Given the description of an element on the screen output the (x, y) to click on. 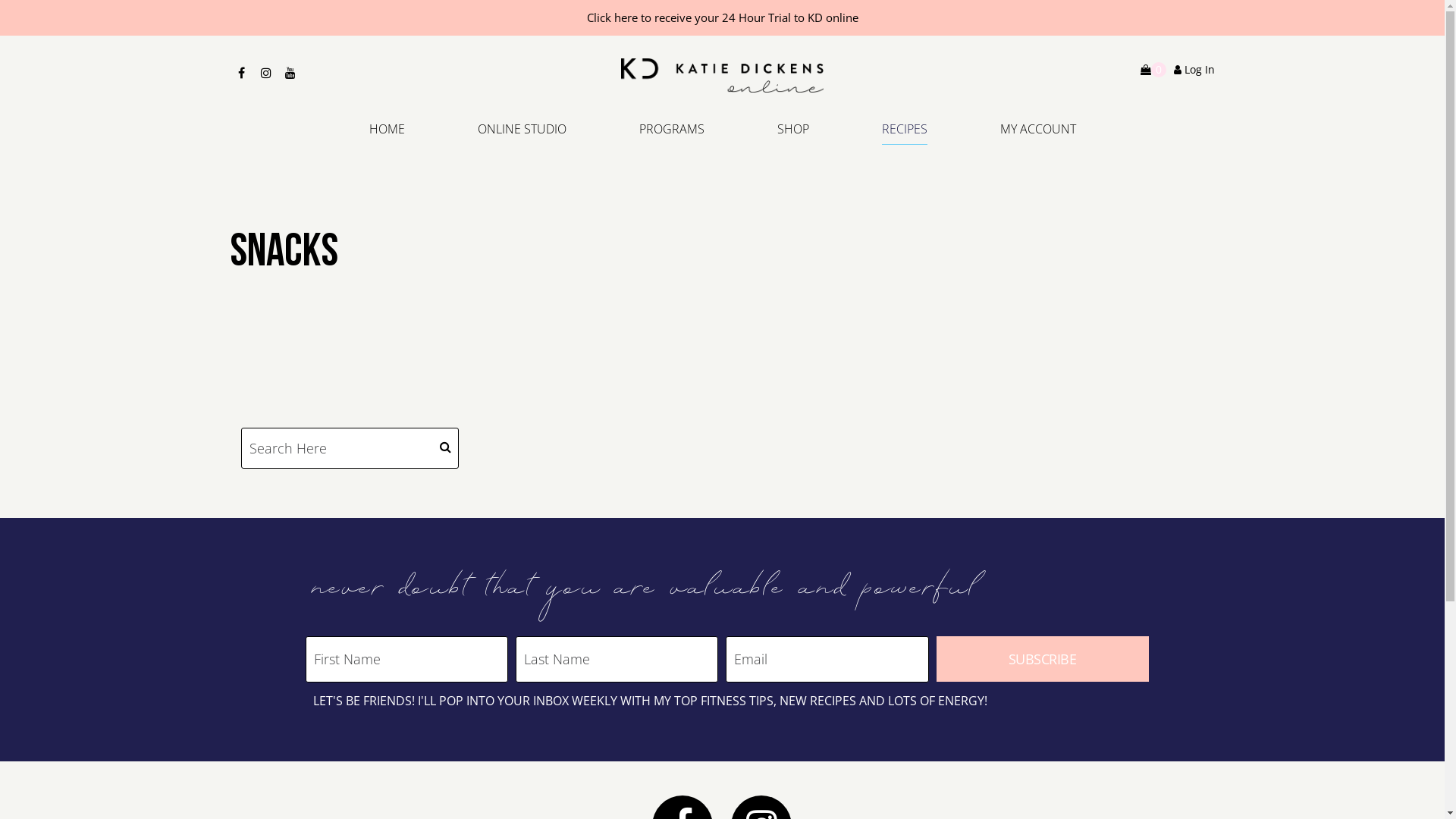
MY ACCOUNT Element type: text (1019, 133)
RECIPES Element type: text (903, 133)
Click here to receive your 24 Hour Trial to KD online Element type: text (722, 17)
youtube Element type: hover (289, 71)
0 Element type: text (1155, 69)
instagram Element type: hover (265, 71)
Subscribe Element type: text (1042, 658)
PROGRAMS Element type: text (671, 133)
SHOP Element type: text (792, 133)
HOME Element type: text (404, 133)
facebook Element type: hover (241, 71)
ONLINE STUDIO Element type: text (521, 133)
Log In Element type: text (1193, 69)
